Given the description of an element on the screen output the (x, y) to click on. 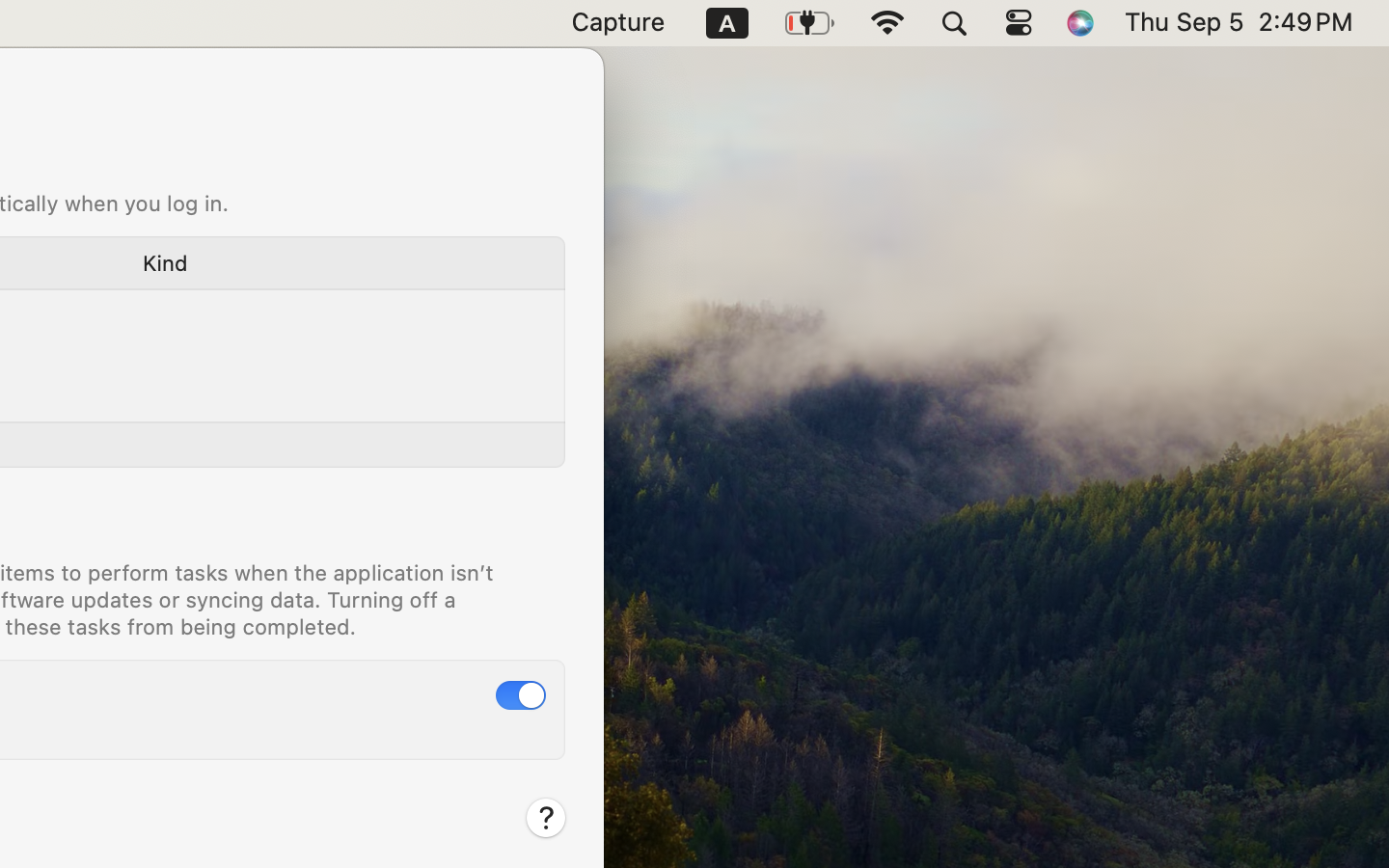
1 Element type: AXCheckBox (520, 694)
